Given the description of an element on the screen output the (x, y) to click on. 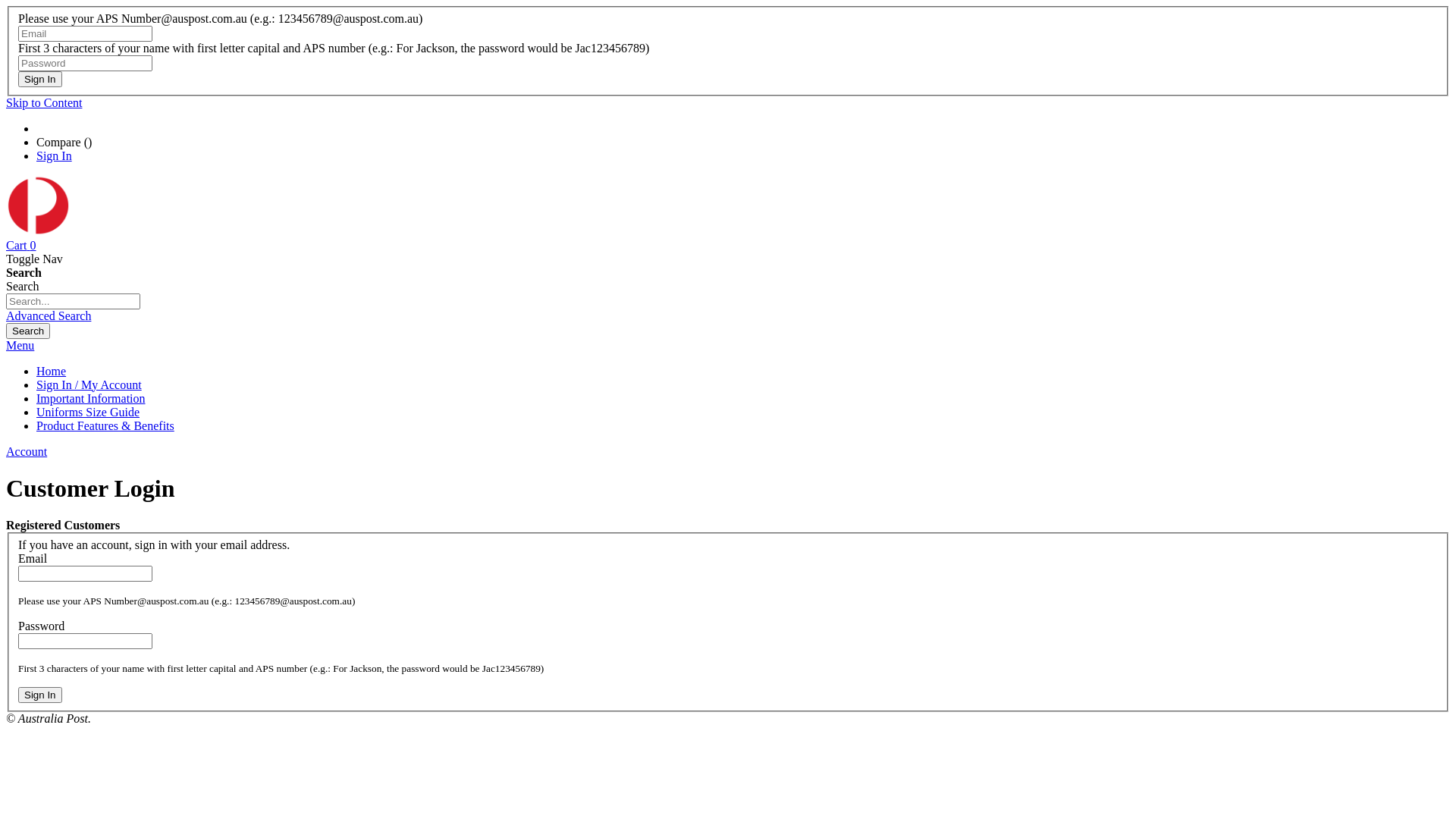
Sign In Element type: text (40, 79)
Sign In Element type: text (40, 694)
Skip to Content Element type: text (43, 102)
Important Information Element type: text (90, 398)
Email Element type: hover (85, 33)
Password Element type: hover (85, 641)
Password Element type: hover (85, 63)
Cart 0 Element type: text (21, 244)
Account Element type: text (26, 451)
Sign In Element type: text (54, 155)
Australia Post Logo Element type: hover (38, 231)
Compare () Element type: text (63, 141)
Email Element type: hover (85, 573)
Home Element type: text (50, 370)
Search Element type: text (28, 330)
Uniforms Size Guide Element type: text (87, 411)
Sign In / My Account Element type: text (88, 384)
Menu Element type: text (20, 344)
Product Features & Benefits Element type: text (105, 425)
Advanced Search Element type: text (48, 315)
